Given the description of an element on the screen output the (x, y) to click on. 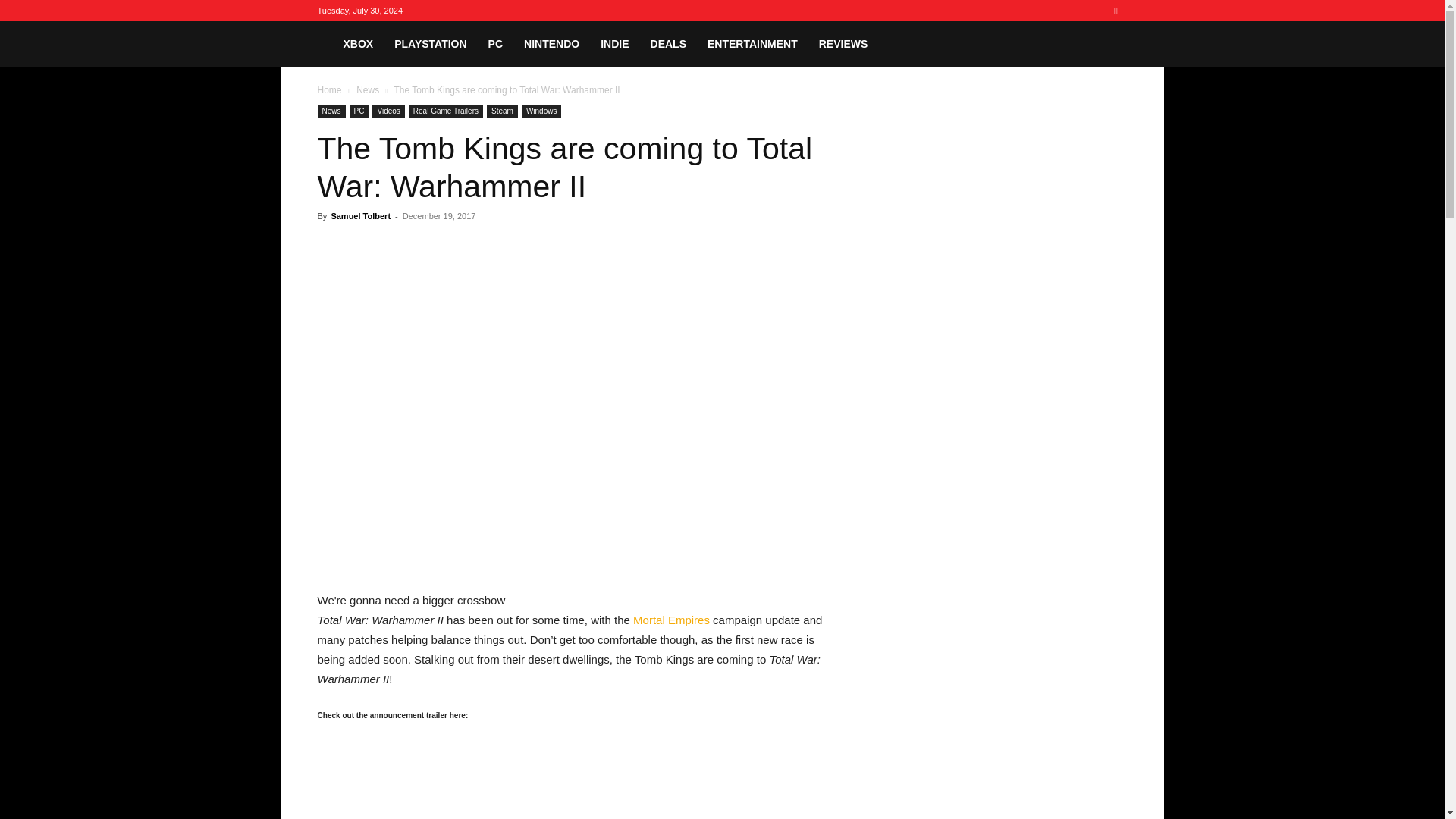
PLAYSTATION (430, 43)
Search (1085, 64)
Real Game Media (324, 43)
XBOX (357, 43)
